Given the description of an element on the screen output the (x, y) to click on. 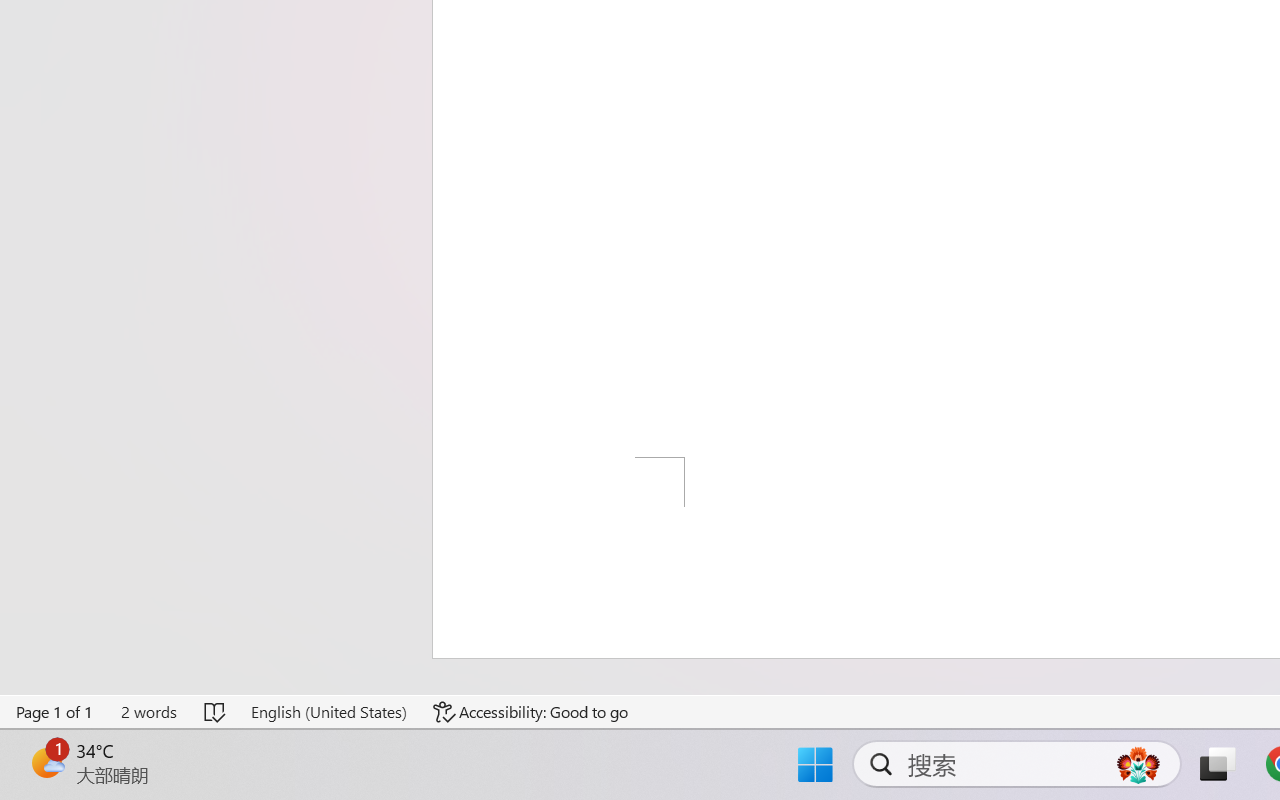
Page Number Page 1 of 1 (55, 712)
Accessibility Checker Accessibility: Good to go (531, 712)
AutomationID: BadgeAnchorLargeTicker (46, 762)
Spelling and Grammar Check No Errors (216, 712)
AutomationID: DynamicSearchBoxGleamImage (1138, 764)
Language English (United States) (328, 712)
